Given the description of an element on the screen output the (x, y) to click on. 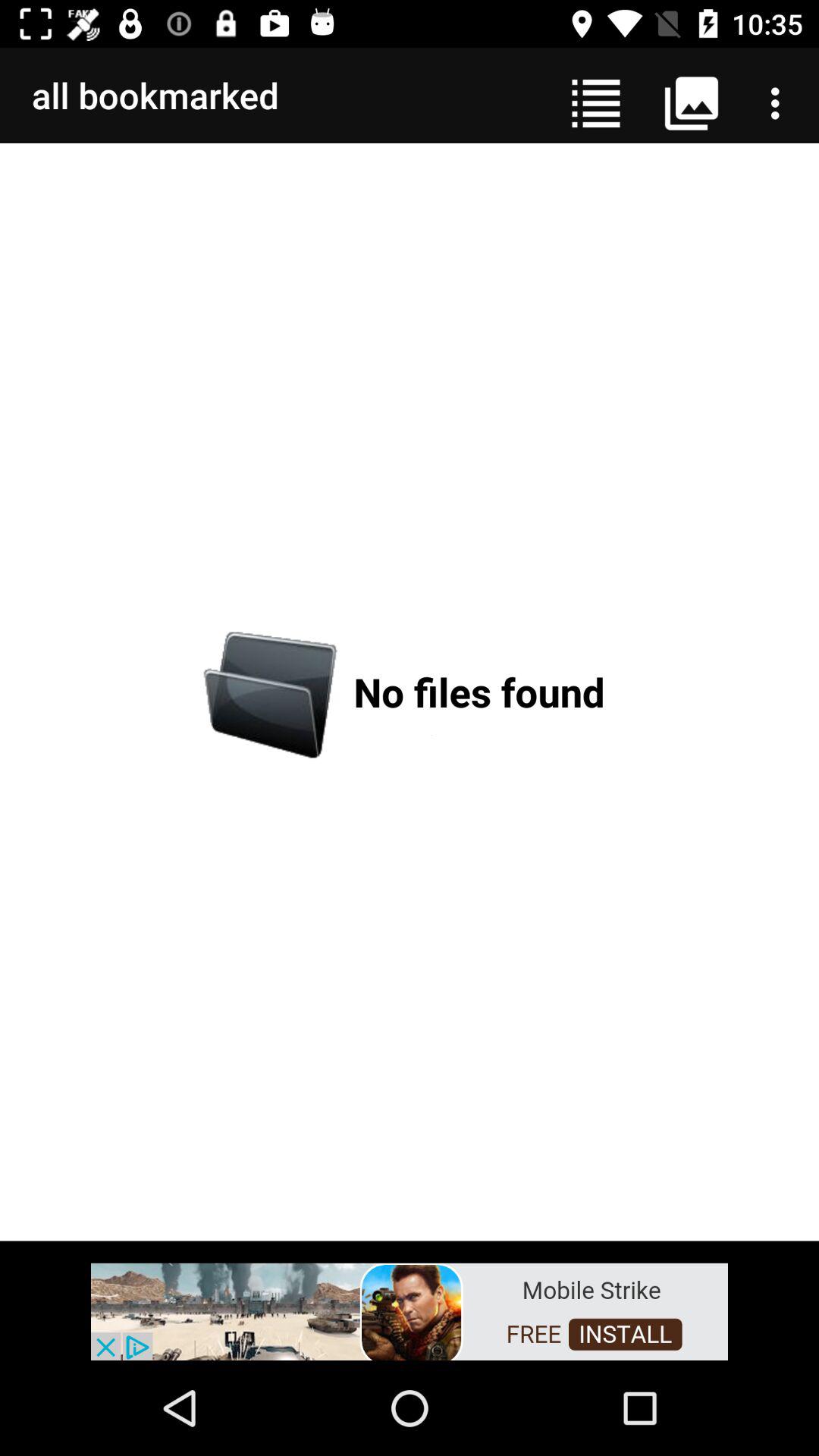
advertisement (409, 1310)
